Given the description of an element on the screen output the (x, y) to click on. 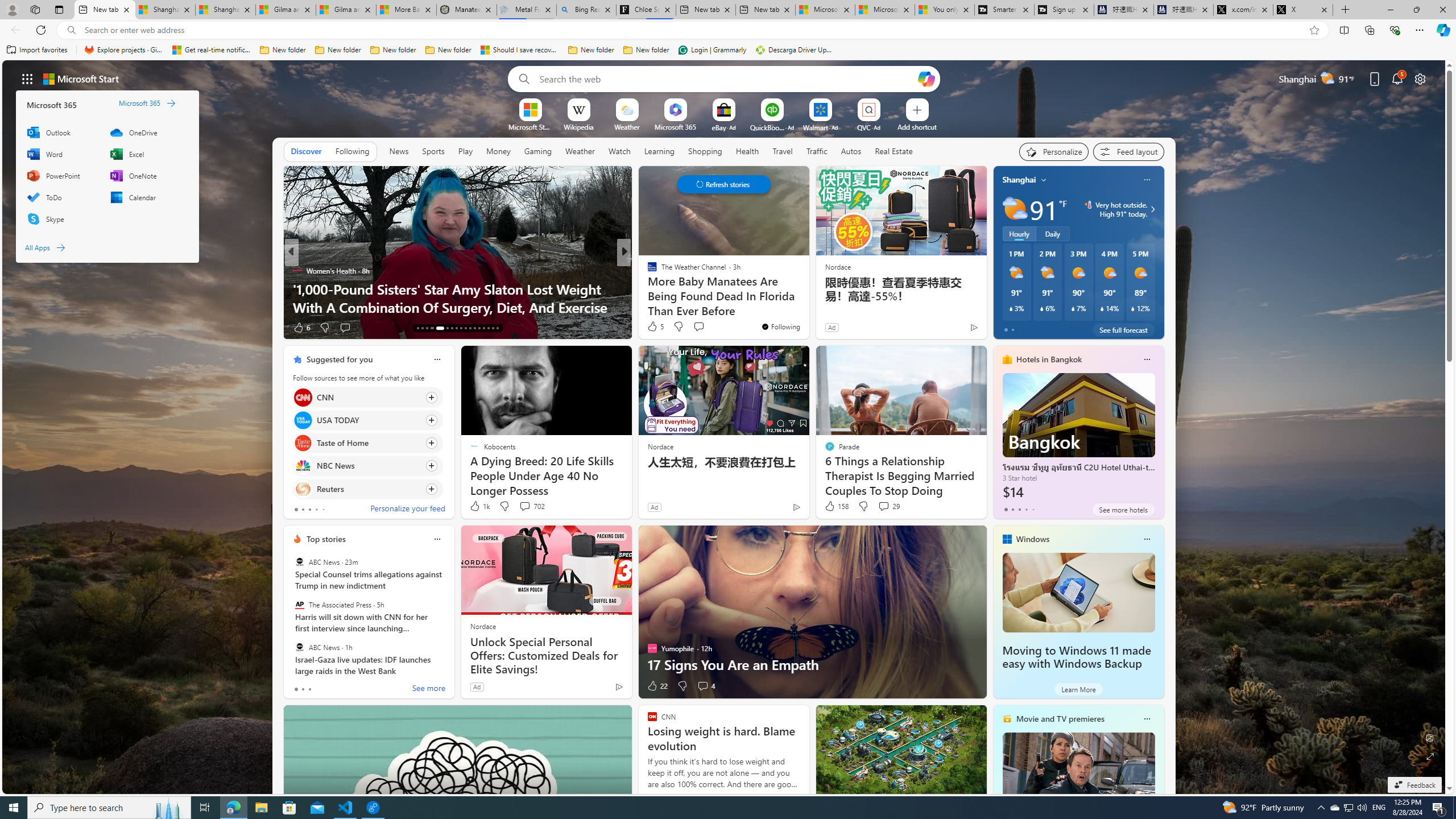
Go to All Apps (44, 247)
Partly sunny (1014, 208)
Suggested for you (338, 359)
Hide this story (597, 359)
tab-2 (309, 689)
Personalize your feed" (1054, 151)
Windows (1032, 538)
next (1158, 252)
